Given the description of an element on the screen output the (x, y) to click on. 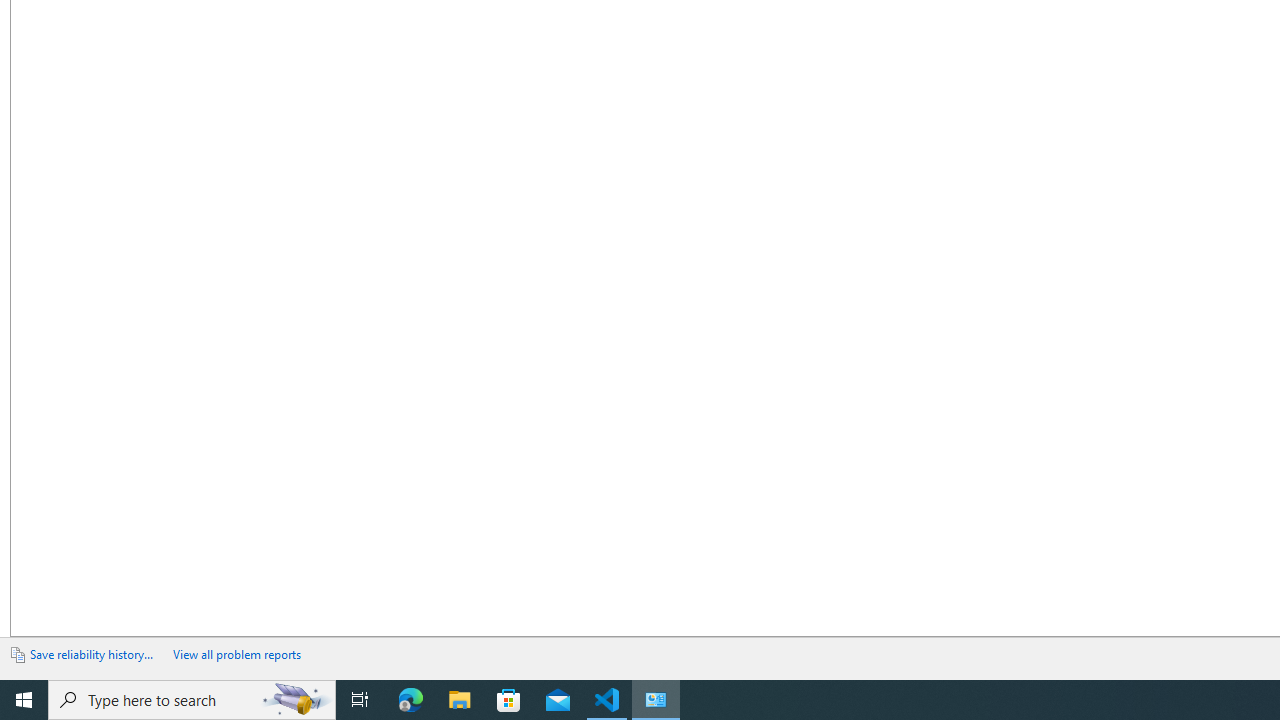
ExportLink (94, 655)
View all problem reports (236, 654)
Control Panel - 1 running window (656, 699)
